Given the description of an element on the screen output the (x, y) to click on. 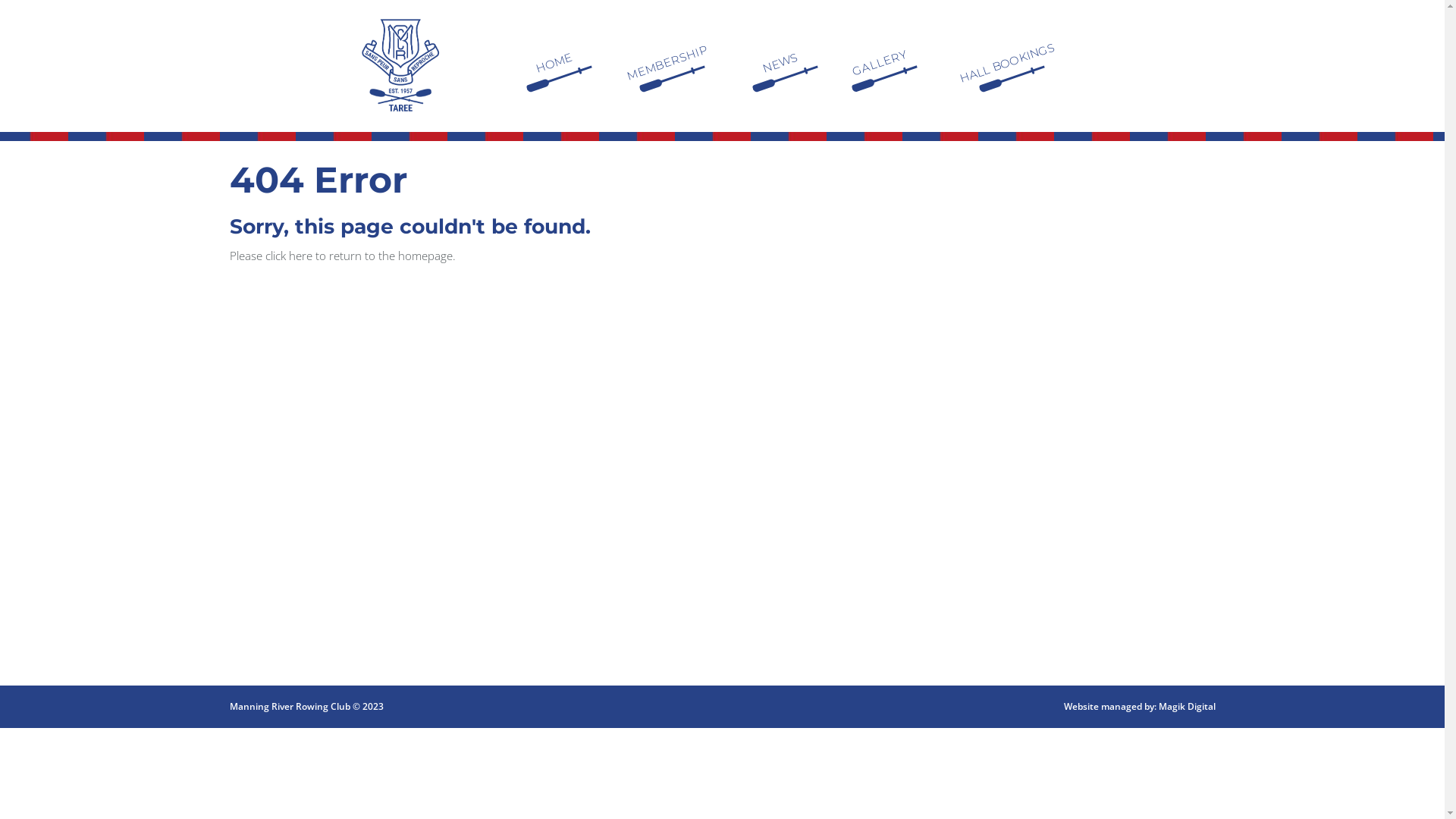
click here Element type: text (288, 255)
NEWS Element type: text (776, 51)
GALLERY Element type: text (875, 48)
Manning River Rowing Club Element type: hover (400, 64)
HOME Element type: text (550, 51)
HALL BOOKINGS Element type: text (1004, 41)
MEMBERSHIP Element type: text (664, 43)
Website managed by: Magik Digital Element type: text (1138, 705)
